Given the description of an element on the screen output the (x, y) to click on. 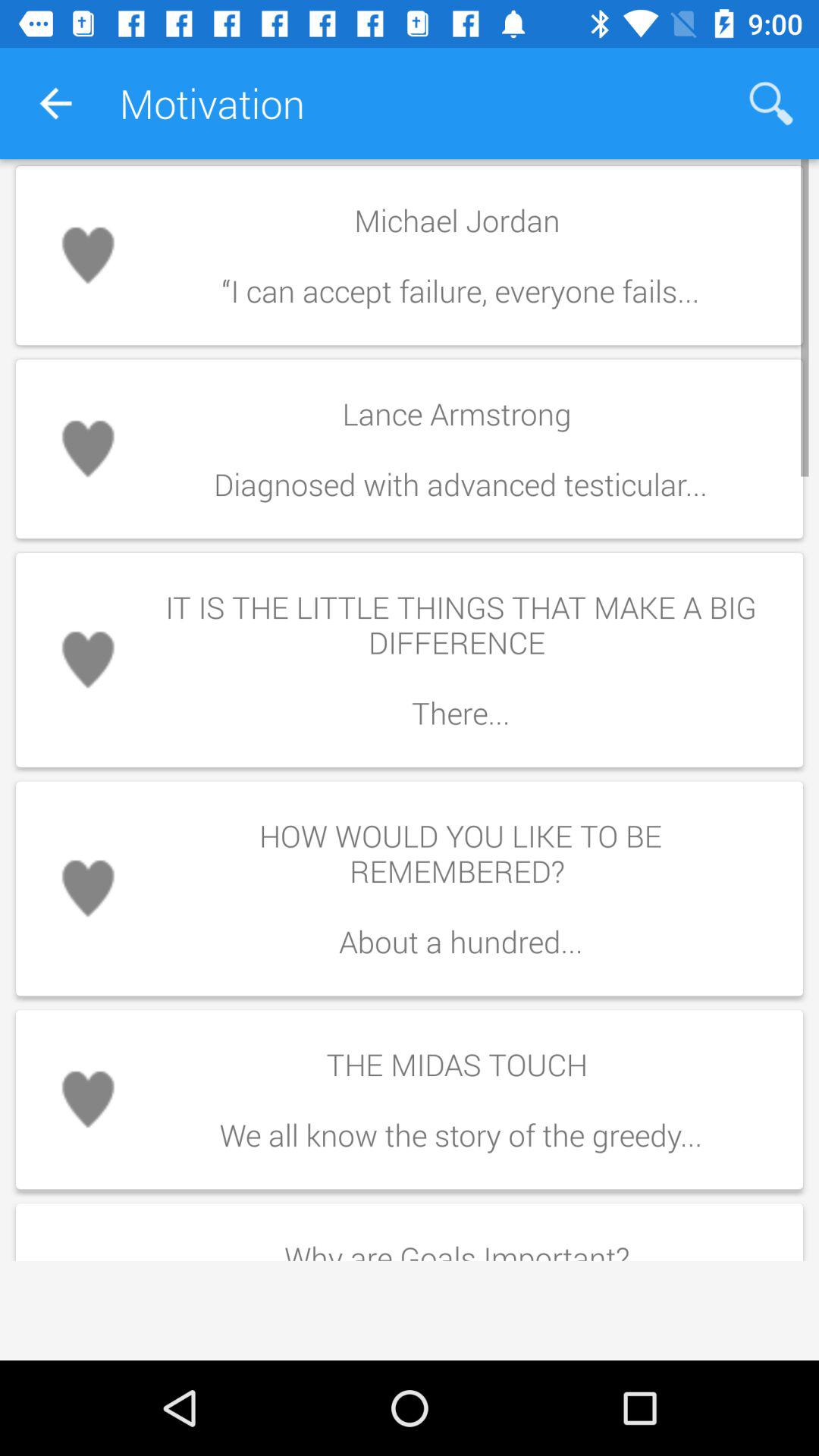
click the app next to motivation icon (55, 103)
